Given the description of an element on the screen output the (x, y) to click on. 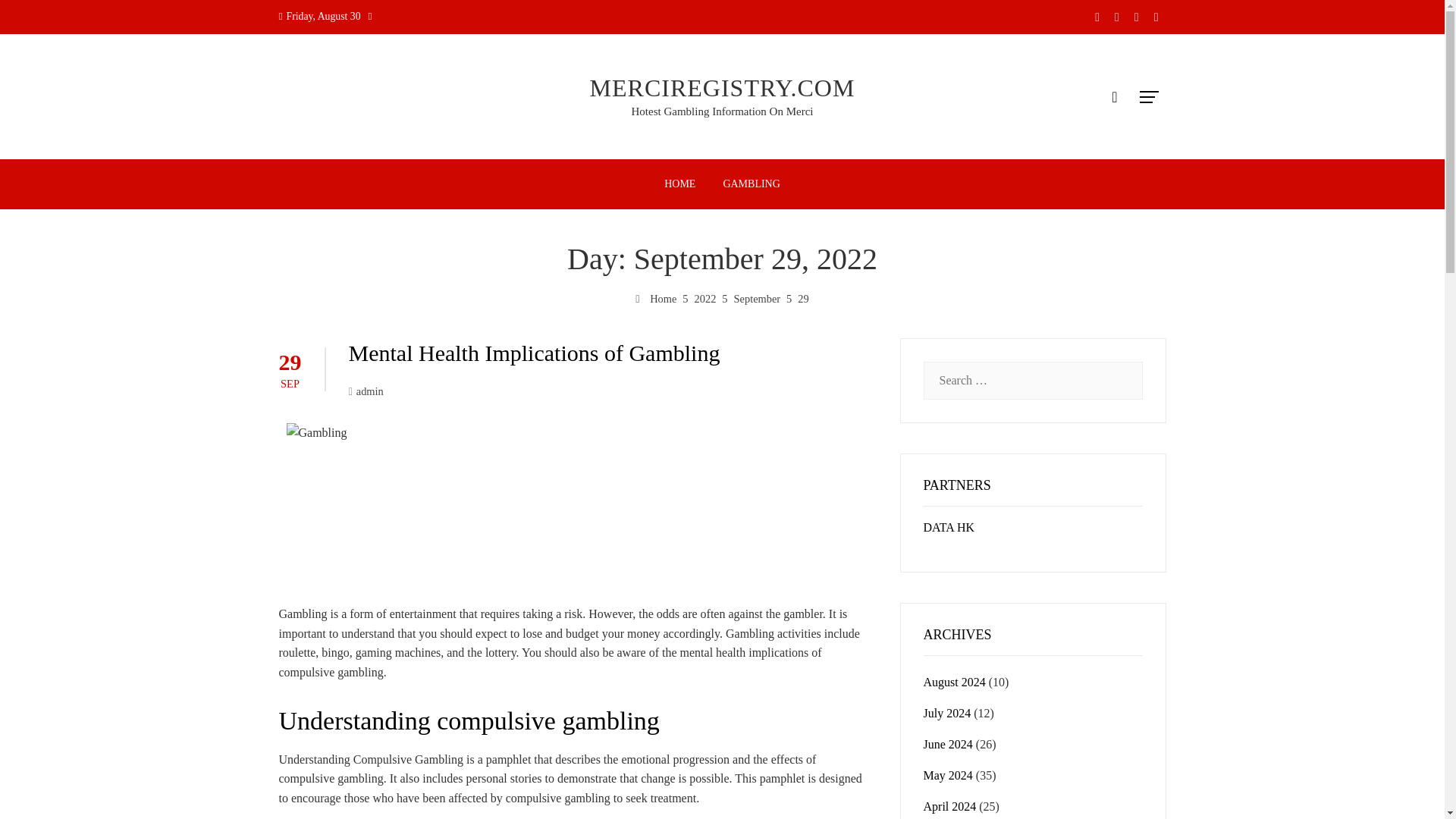
admin (366, 390)
July 2024 (947, 712)
GAMBLING (750, 183)
August 2024 (954, 681)
HOME (679, 183)
Search (35, 18)
DATA HK (949, 526)
MERCIREGISTRY.COM (722, 87)
April 2024 (949, 806)
2022 (705, 298)
